Given the description of an element on the screen output the (x, y) to click on. 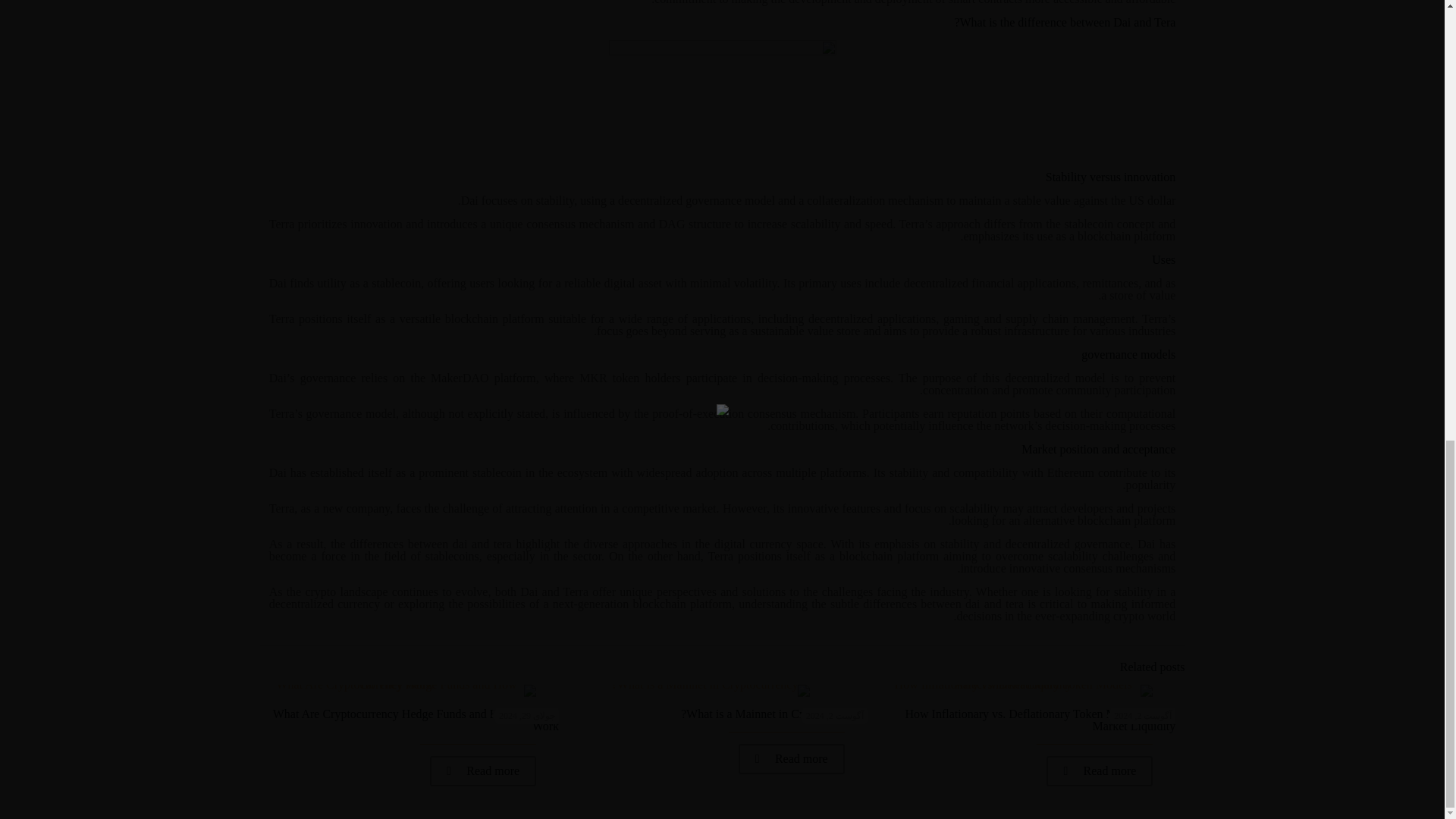
What Are Cryptocurrency Hedge Funds and How Do They Work (416, 719)
Read more (1099, 770)
Read more (482, 770)
Read more (791, 758)
What is a Mainnet in Cryptocurrency? (774, 713)
